Given the description of an element on the screen output the (x, y) to click on. 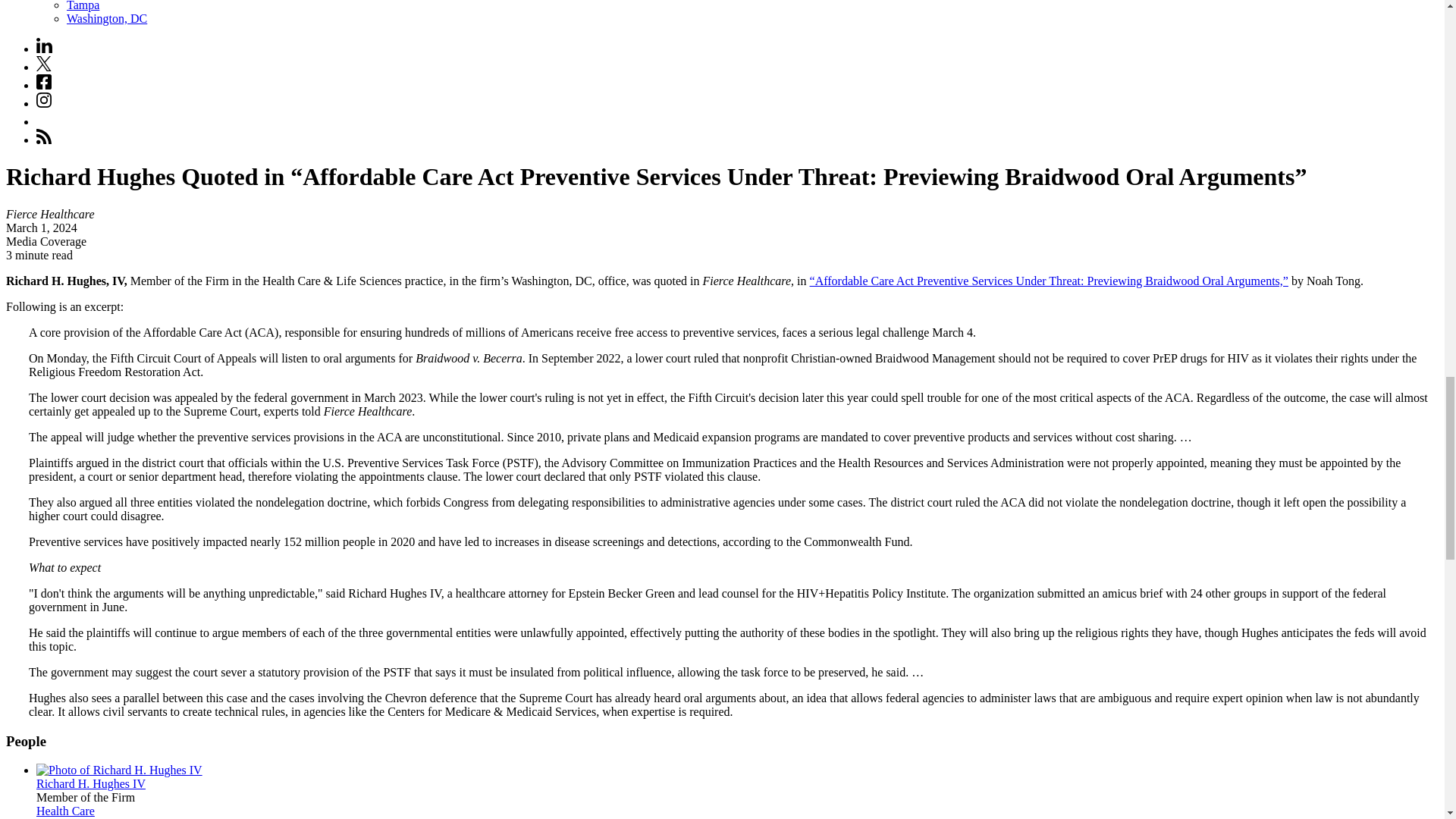
Youtube (43, 118)
Twitter (43, 66)
Instagram (44, 99)
RSS (43, 136)
Linkedin (44, 45)
Twitter (43, 63)
Facebook (43, 81)
Facebook (43, 84)
Instagram (44, 103)
Linkedin (44, 48)
Youtube (43, 121)
